Given the description of an element on the screen output the (x, y) to click on. 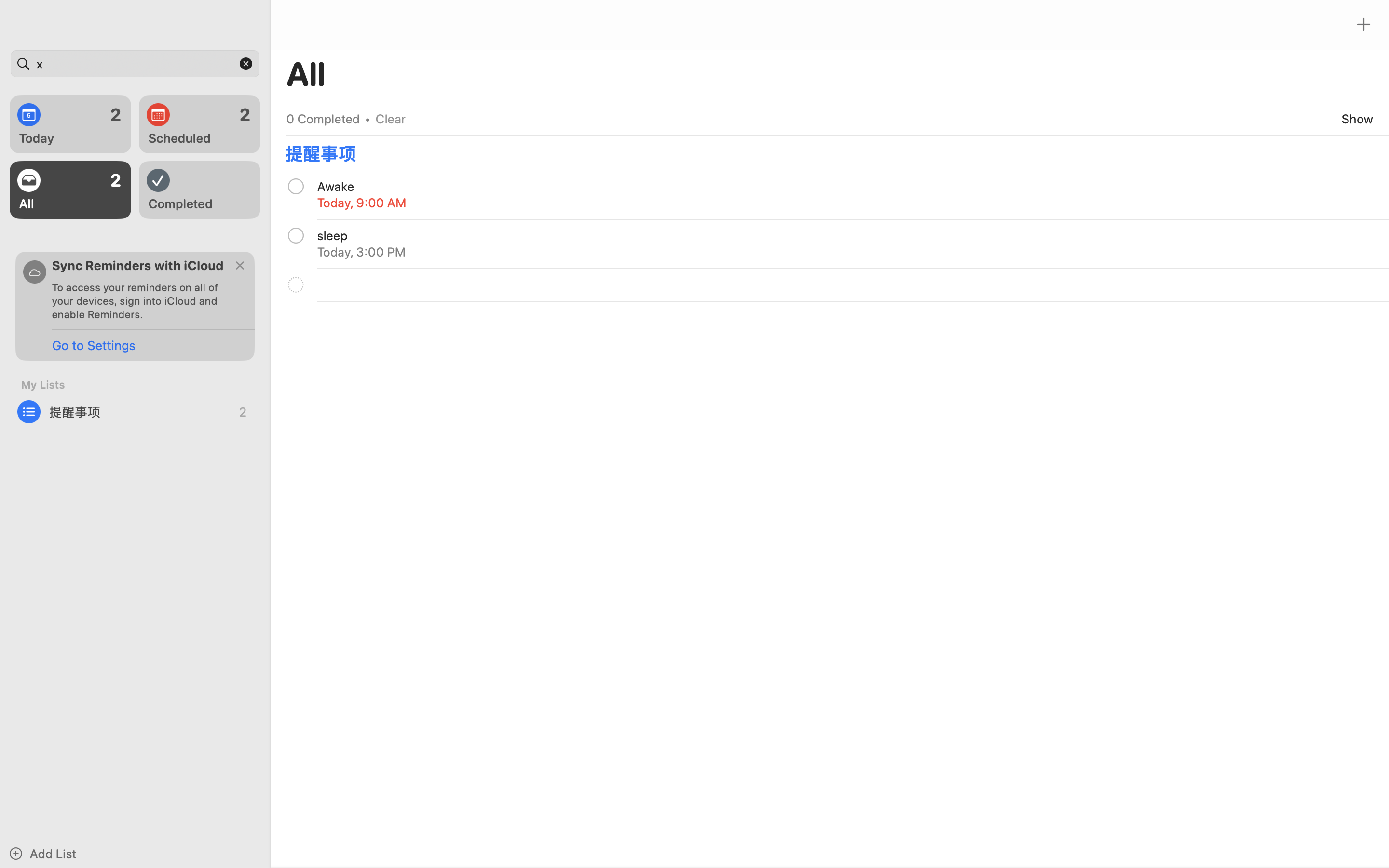
To access your reminders on all of your devices, sign into iCloud and enable Reminders. Element type: AXStaticText (139, 300)
Today, 3:00 PM Element type: AXStaticText (361, 251)
提醒事项 Element type: AXTextField (135, 411)
